Given the description of an element on the screen output the (x, y) to click on. 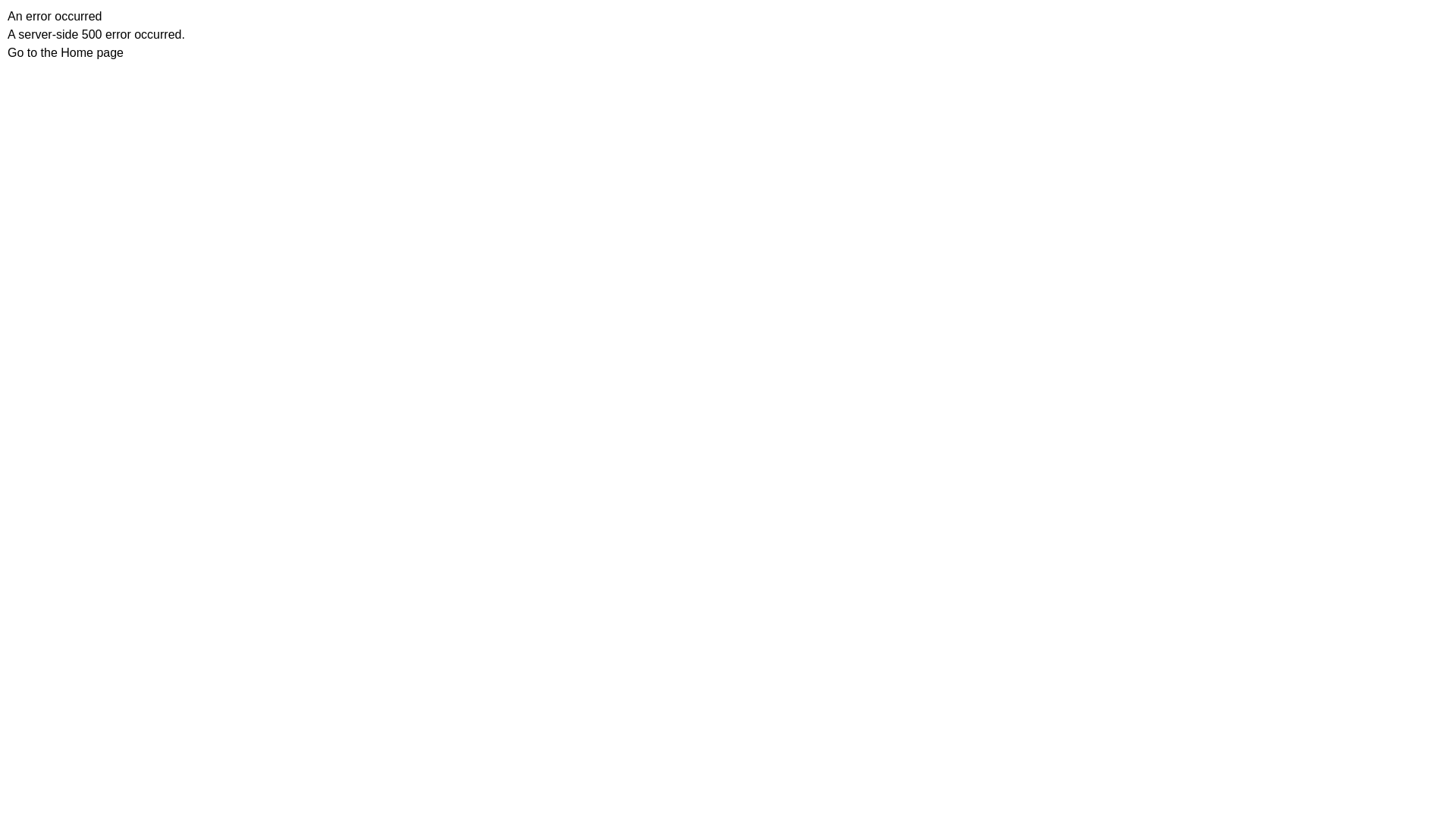
Go to the Home page Element type: text (65, 52)
